Given the description of an element on the screen output the (x, y) to click on. 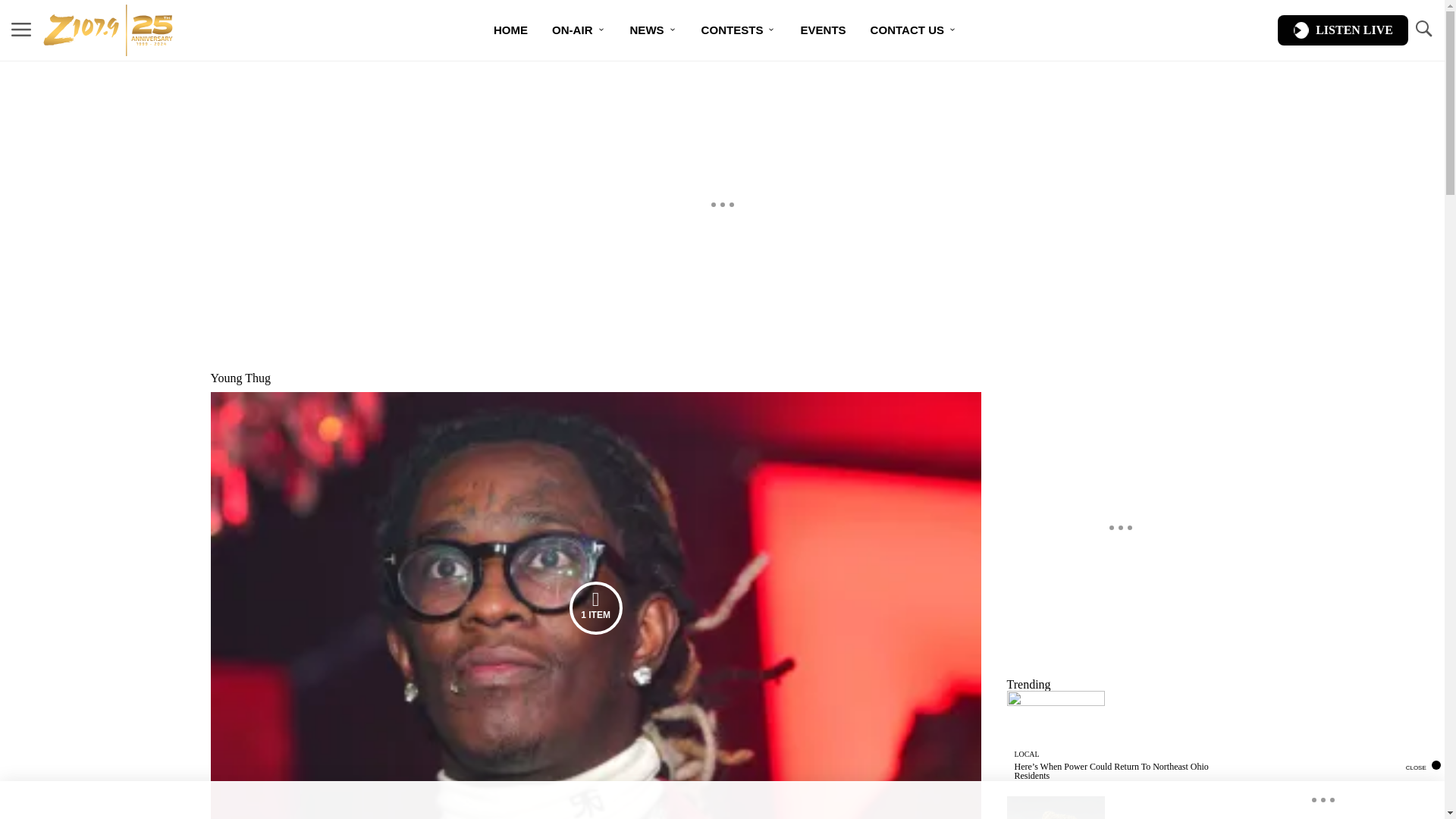
CONTESTS (738, 30)
LISTEN LIVE (1342, 30)
CONTACT US (914, 30)
TOGGLE SEARCH (1422, 30)
MENU (20, 29)
HOME (510, 30)
ON-AIR (578, 30)
EVENTS (822, 30)
NEWS (652, 30)
